Given the description of an element on the screen output the (x, y) to click on. 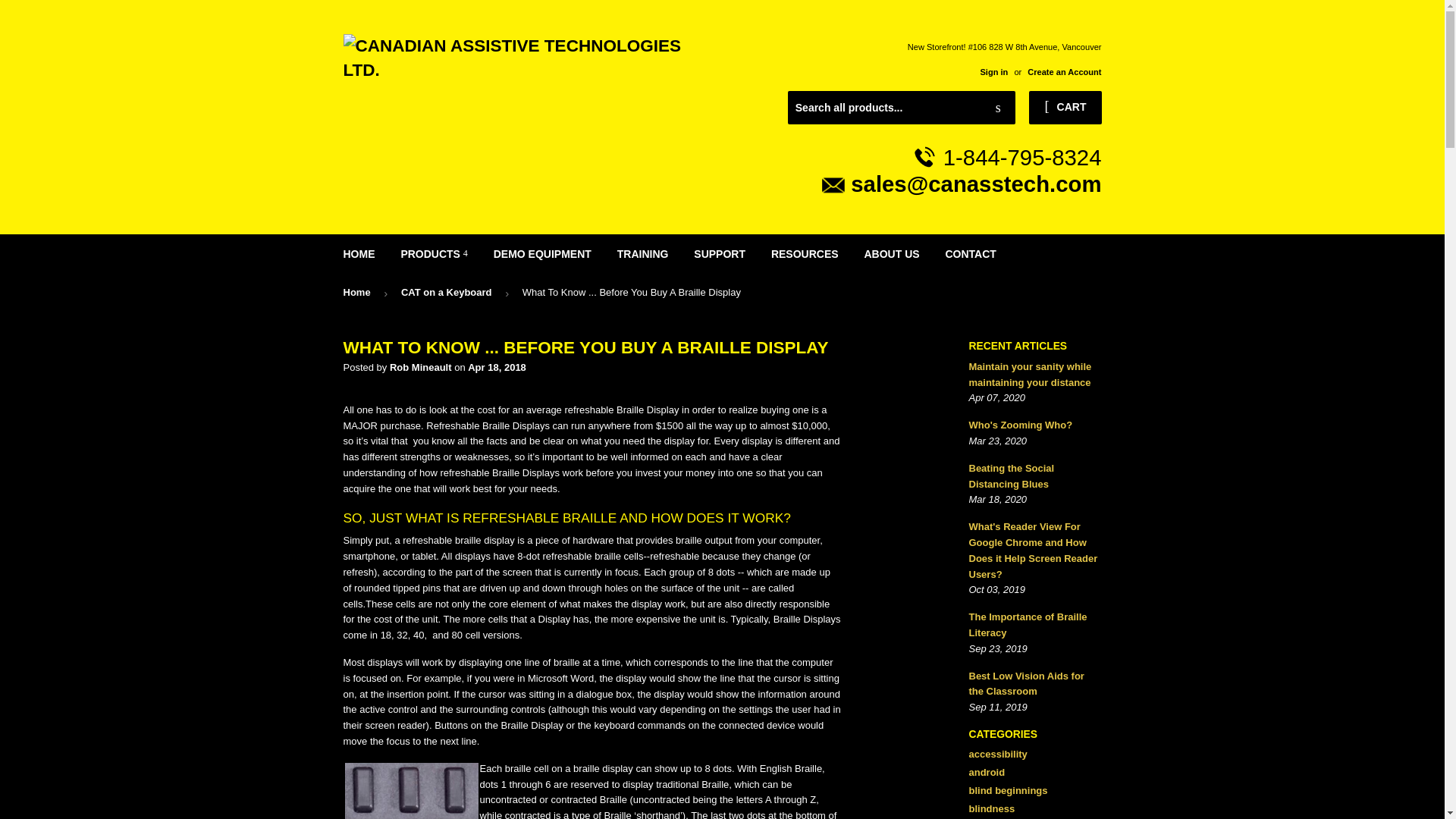
CART (1064, 107)
PRODUCTS (433, 253)
Show articles tagged blind beginnings (1008, 790)
Show articles tagged android (987, 772)
Sign in (993, 71)
Create an Account (1063, 71)
Show articles tagged accessibility (998, 754)
Show articles tagged blindness (991, 808)
HOME (359, 253)
Search (997, 108)
